Given the description of an element on the screen output the (x, y) to click on. 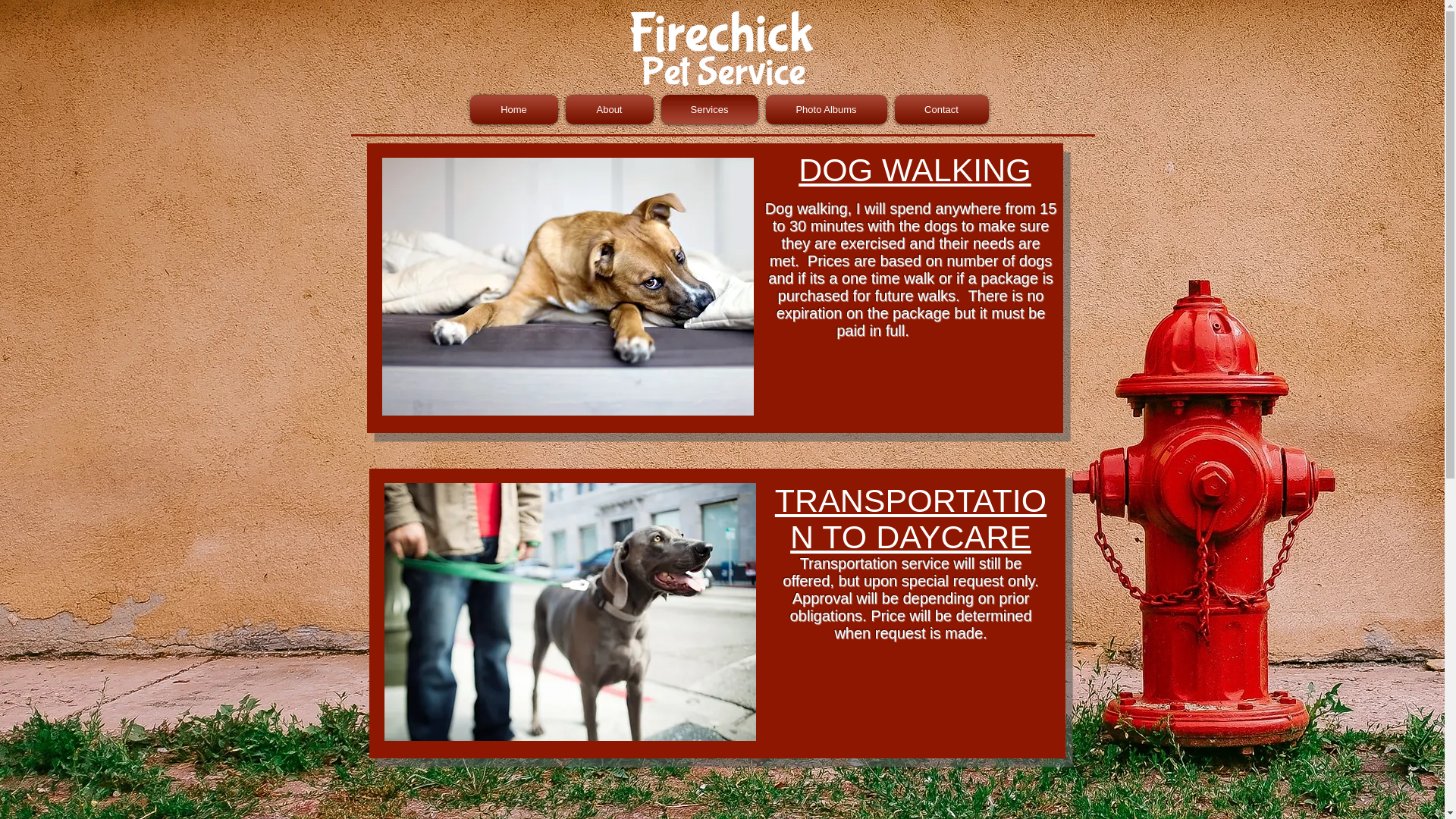
Services (708, 109)
About (608, 109)
Photo Albums (825, 109)
Taking the dog for a walk (569, 612)
Rescue Puppy (567, 286)
Contact (938, 109)
Home (516, 109)
